Given the description of an element on the screen output the (x, y) to click on. 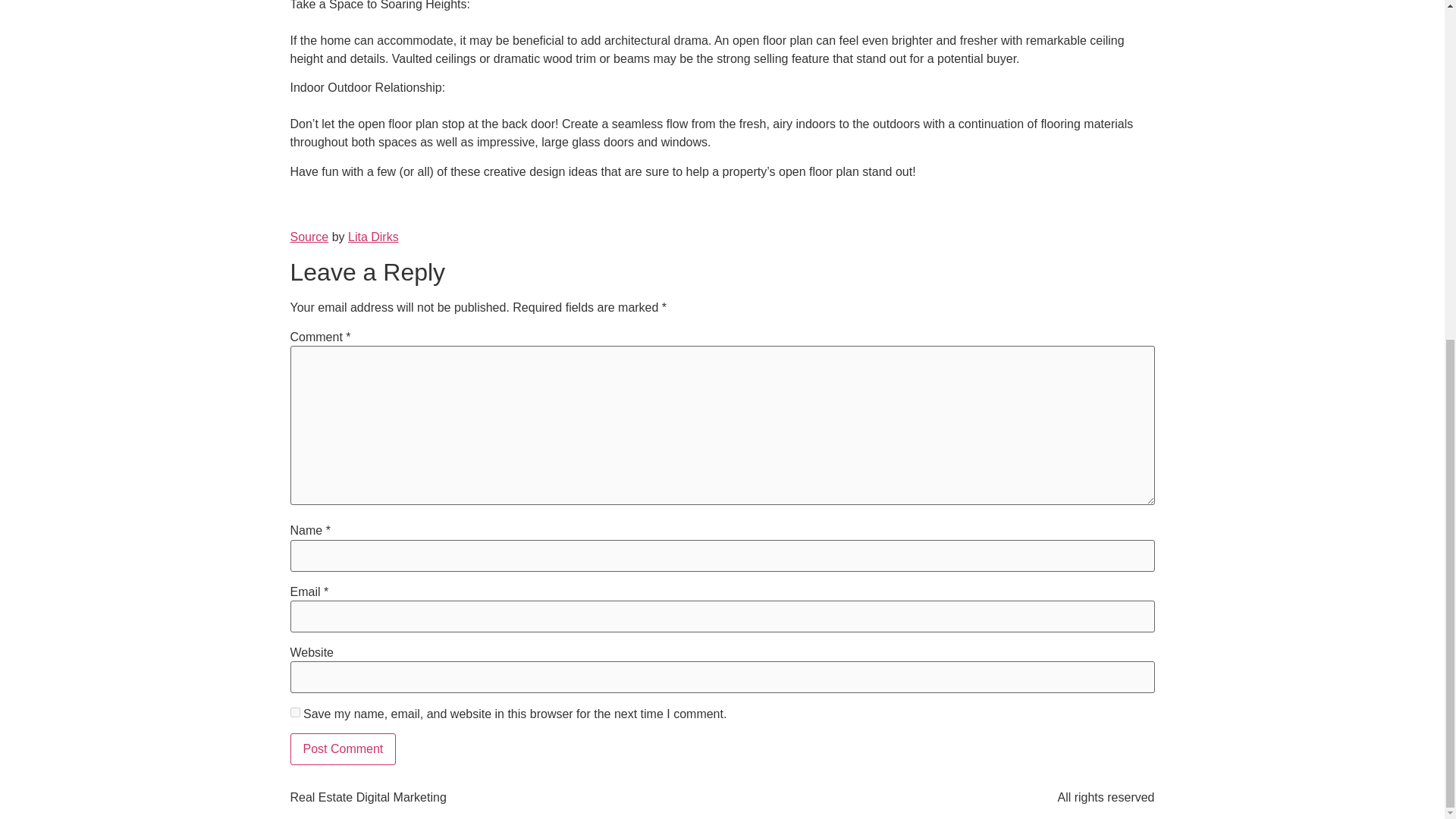
Source (309, 236)
yes (294, 712)
Post Comment (342, 748)
Lita Dirks (372, 236)
Post Comment (342, 748)
